Given the description of an element on the screen output the (x, y) to click on. 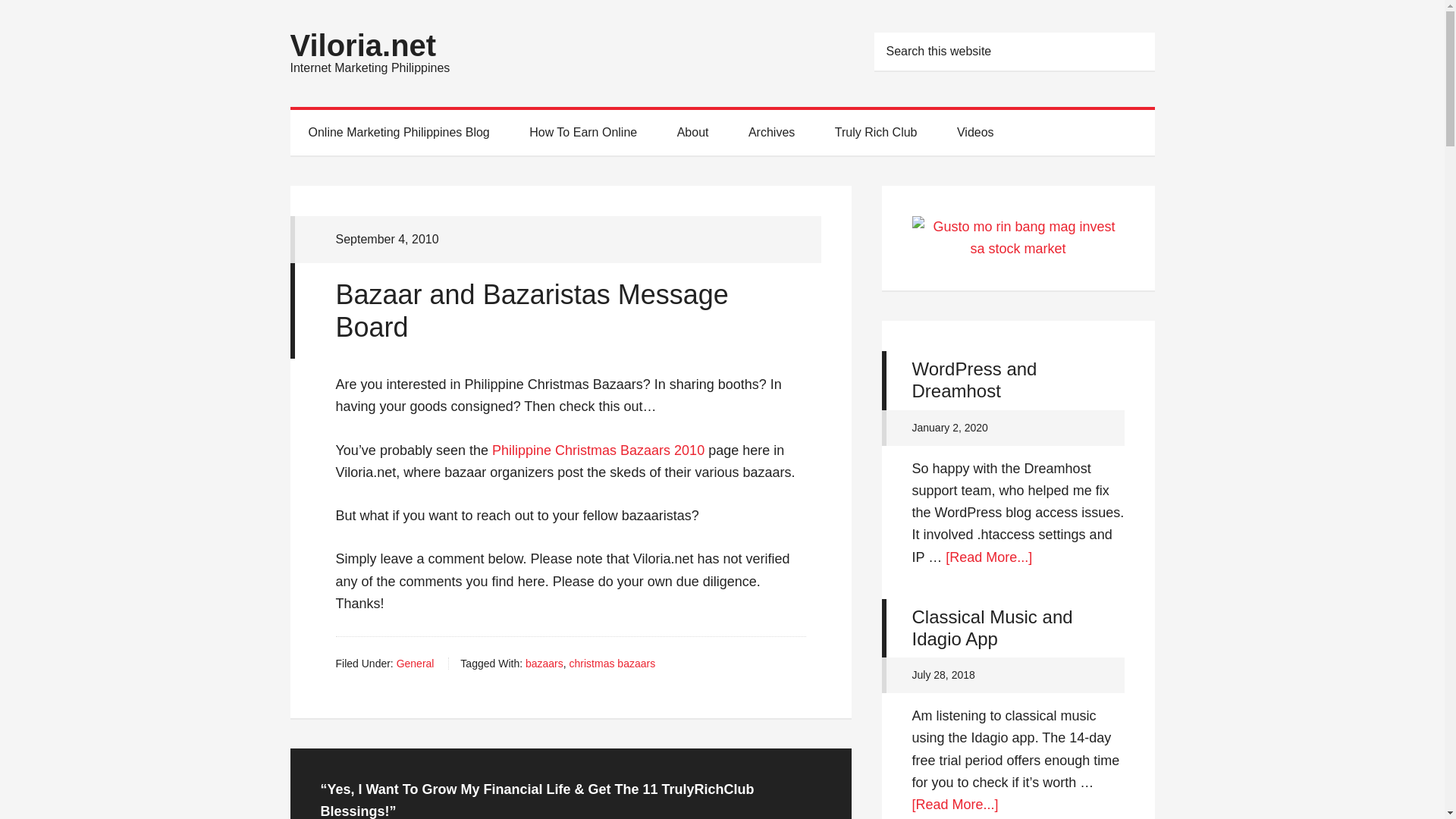
Truly Rich Club (876, 132)
Viloria.net (362, 45)
christmas bazaars (612, 663)
bazaars (544, 663)
Videos (975, 132)
WordPress and Dreamhost (973, 379)
Philippine Christmas Bazaars 2010 (598, 450)
Archives (771, 132)
Online Marketing Philippines Blog (397, 132)
